Given the description of an element on the screen output the (x, y) to click on. 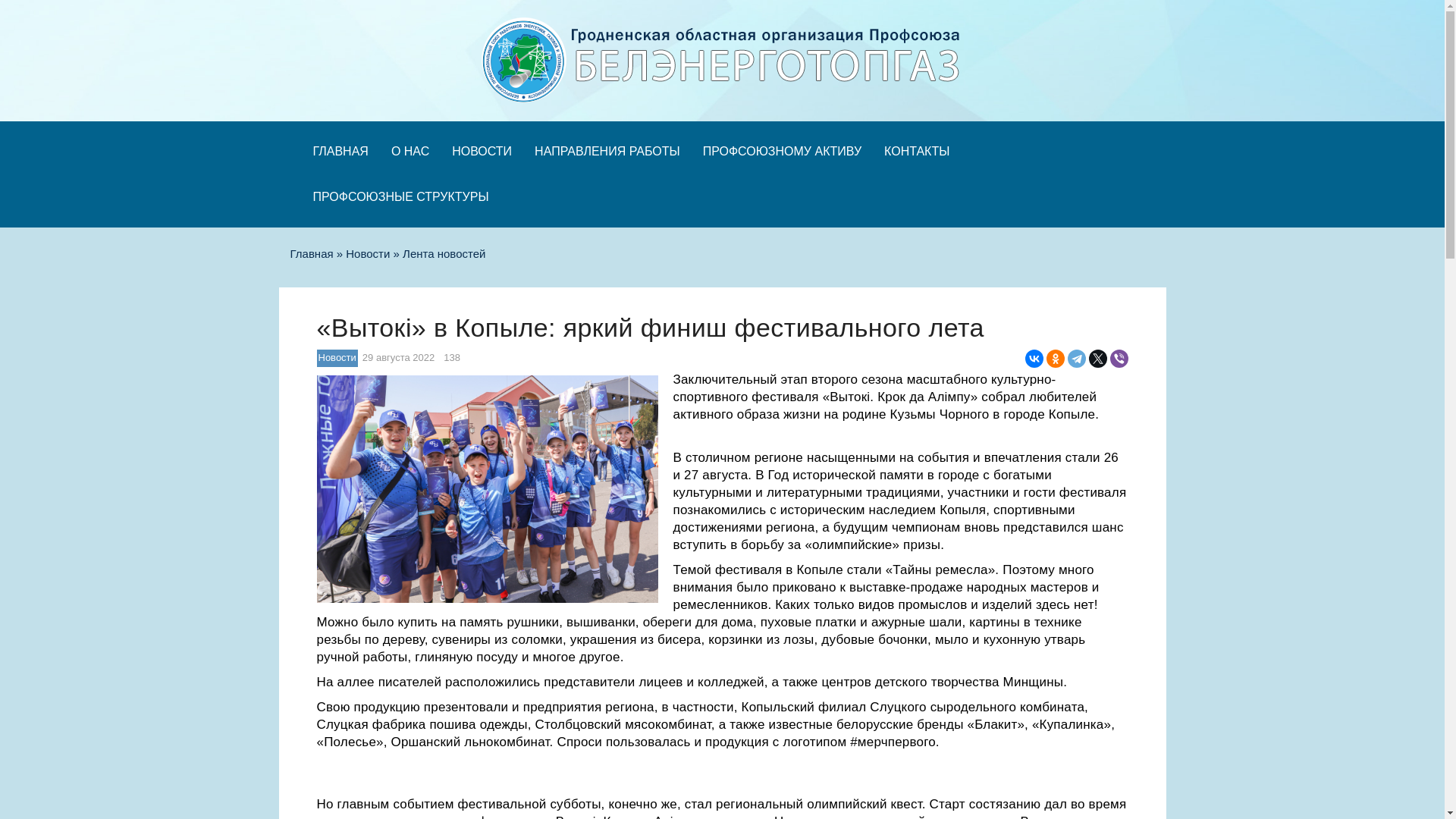
Telegram Element type: hover (1076, 358)
Viber Element type: hover (1119, 358)
Twitter Element type: hover (1097, 358)
